Given the description of an element on the screen output the (x, y) to click on. 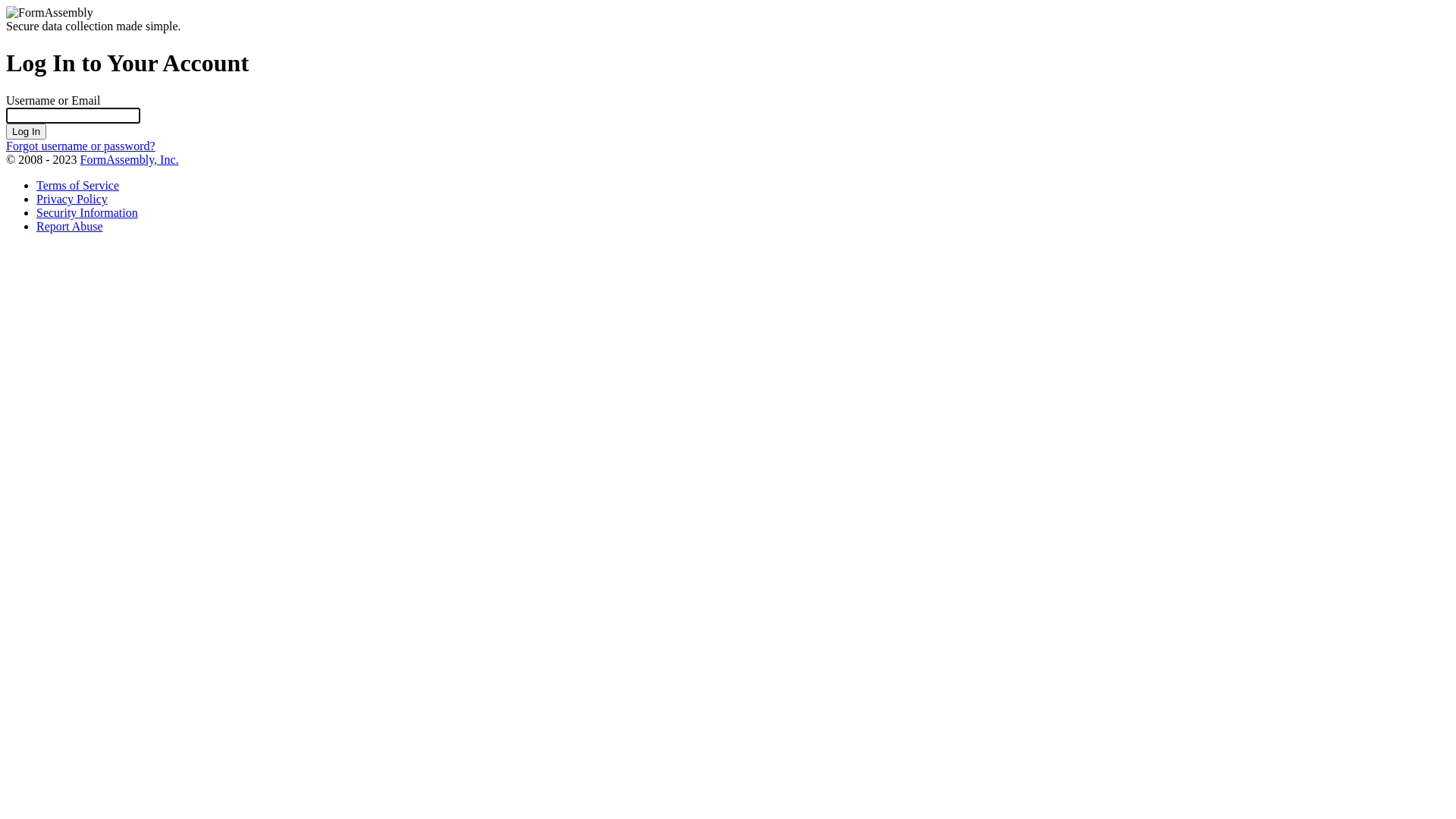
Report Abuse Element type: text (69, 225)
Privacy Policy Element type: text (71, 198)
Terms of Service Element type: text (77, 184)
Security Information Element type: text (87, 212)
Forgot username or password? Element type: text (80, 145)
FormAssembly, Inc. Element type: text (128, 159)
Log In Element type: text (26, 131)
